Given the description of an element on the screen output the (x, y) to click on. 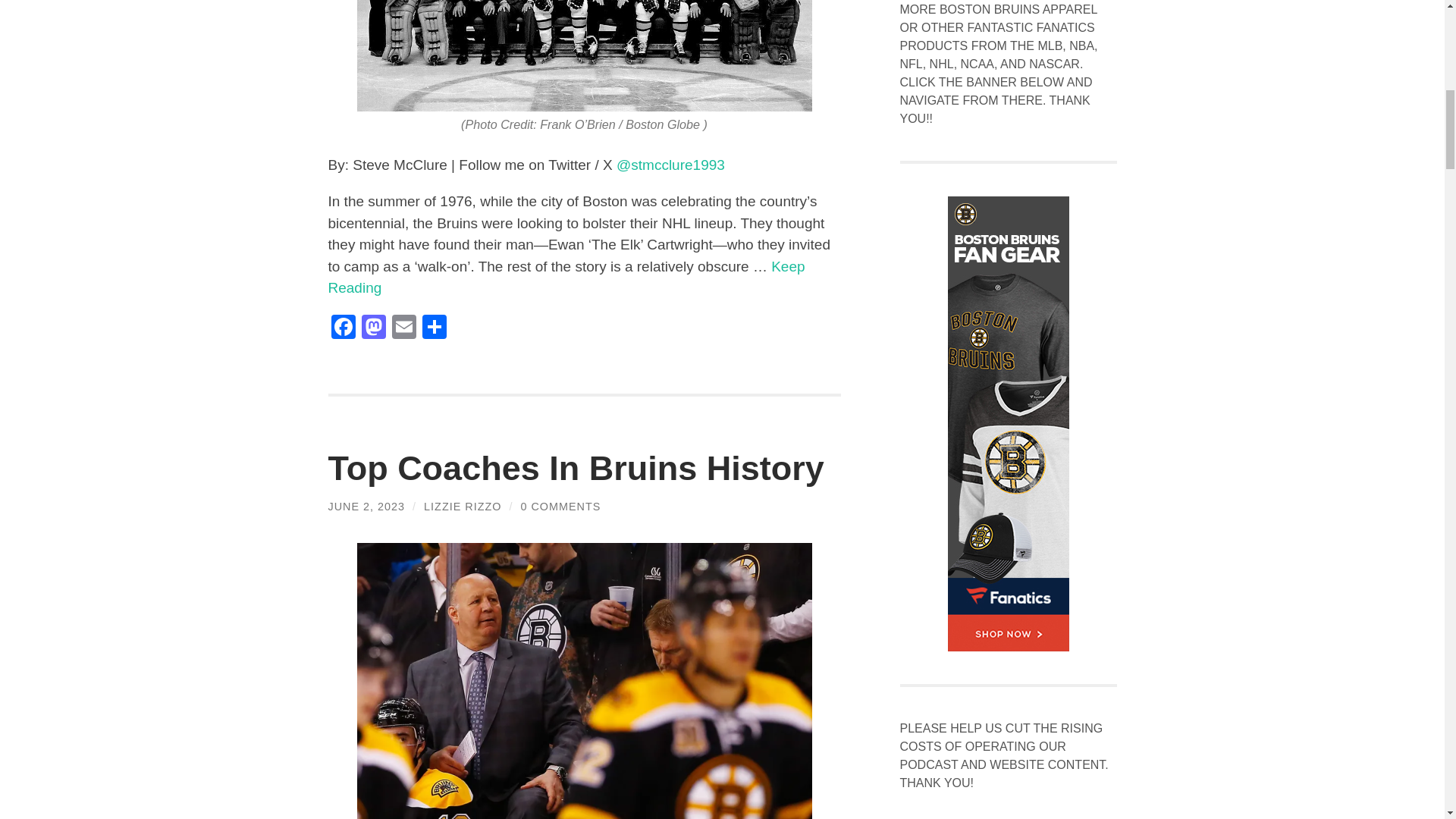
Mastodon (373, 328)
LIZZIE RIZZO (461, 506)
Top Coaches In Bruins History (575, 467)
Posts by Lizzie Rizzo (461, 506)
Keep Reading (566, 277)
0 COMMENTS (559, 506)
Email (403, 328)
Email (403, 328)
Mastodon (373, 328)
Facebook (342, 328)
